Given the description of an element on the screen output the (x, y) to click on. 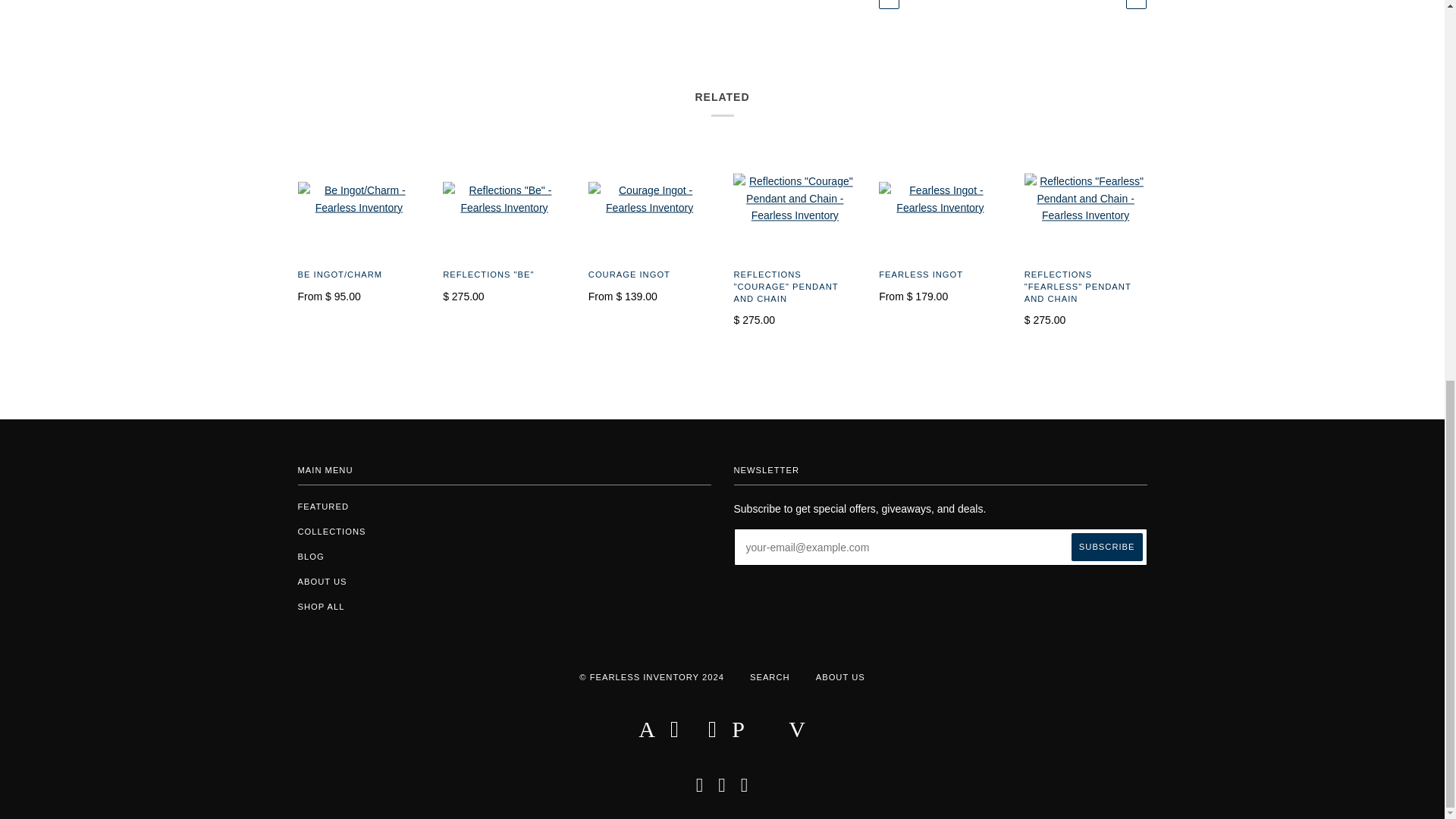
Fearless Inventory on Facebook (699, 788)
Fearless Inventory on Instagram (721, 788)
Fearless Inventory on Pinterest (745, 788)
Subscribe (1106, 547)
